Given the description of an element on the screen output the (x, y) to click on. 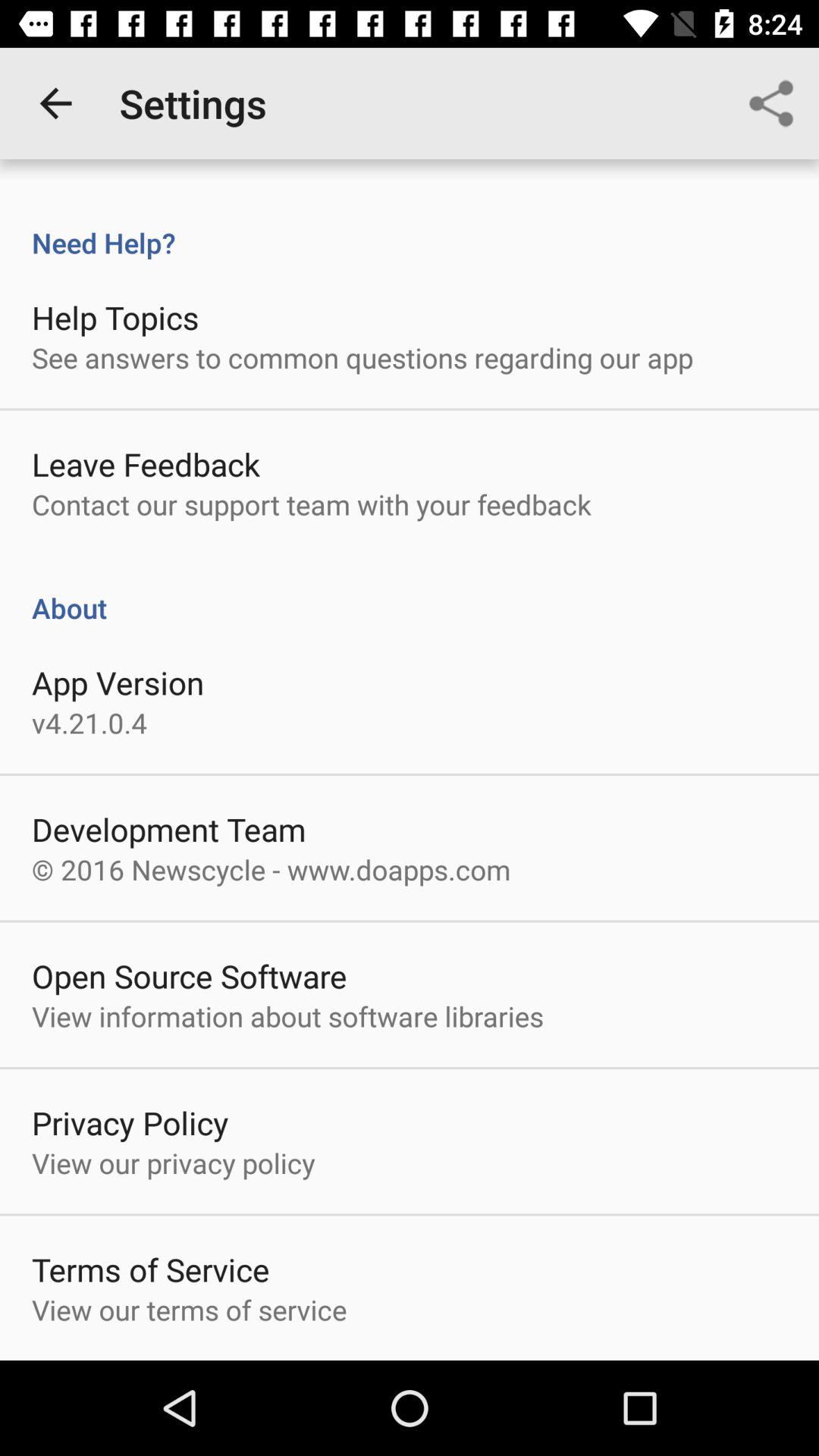
choose the icon above development team item (89, 722)
